Given the description of an element on the screen output the (x, y) to click on. 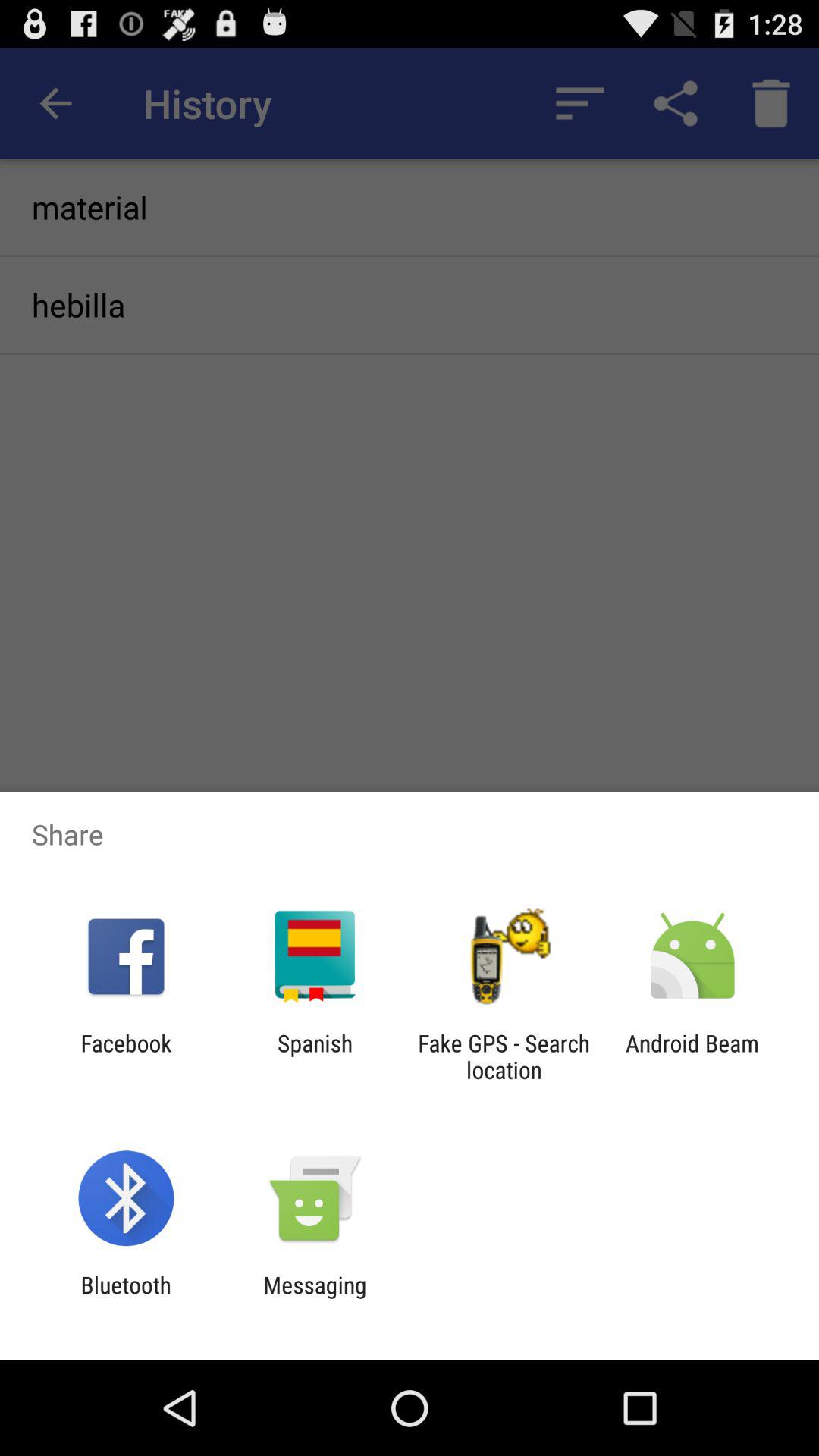
swipe until the fake gps search icon (503, 1056)
